Given the description of an element on the screen output the (x, y) to click on. 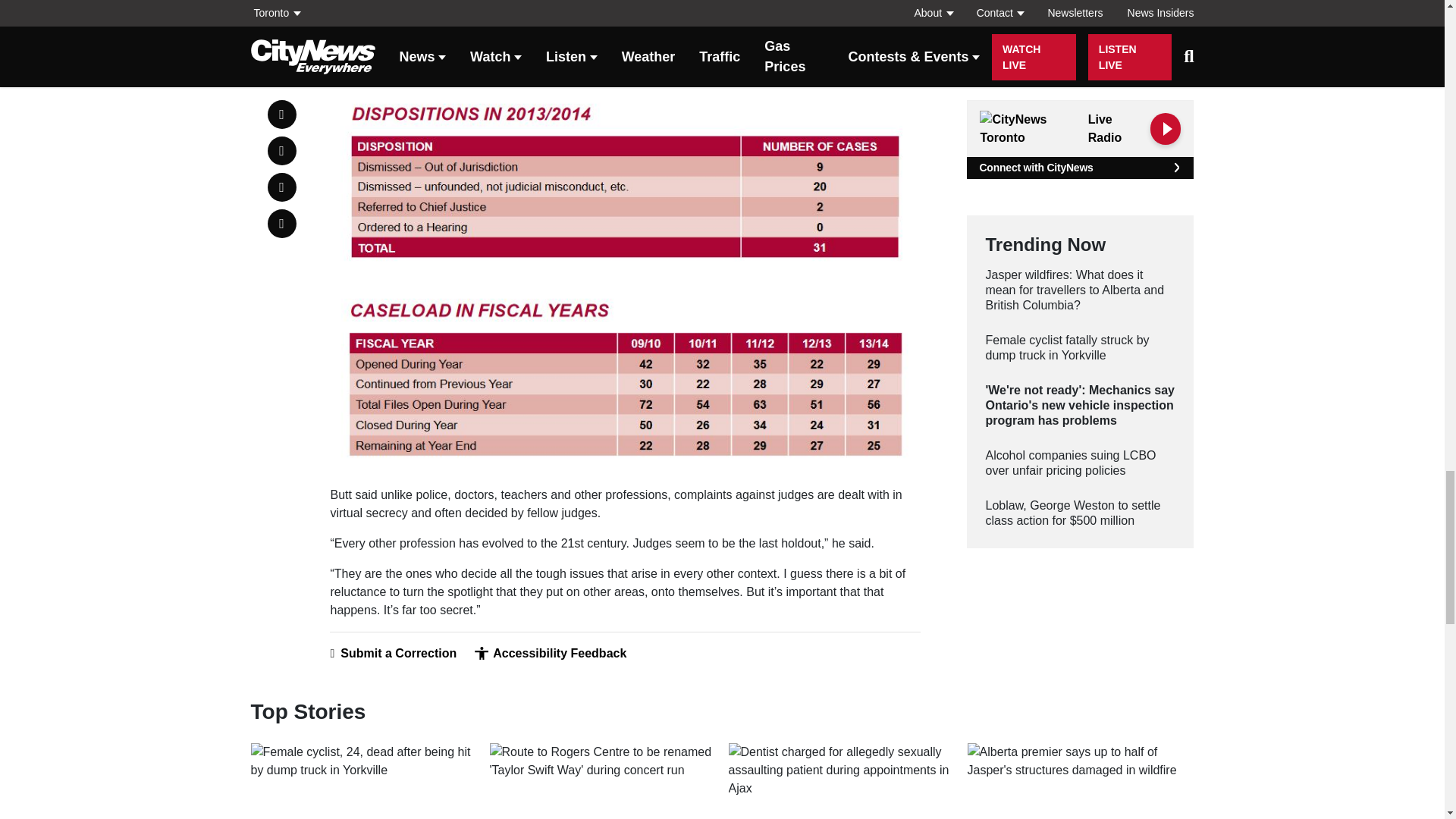
Submit a Correction (393, 653)
Accessibility Feedback (550, 653)
